Given the description of an element on the screen output the (x, y) to click on. 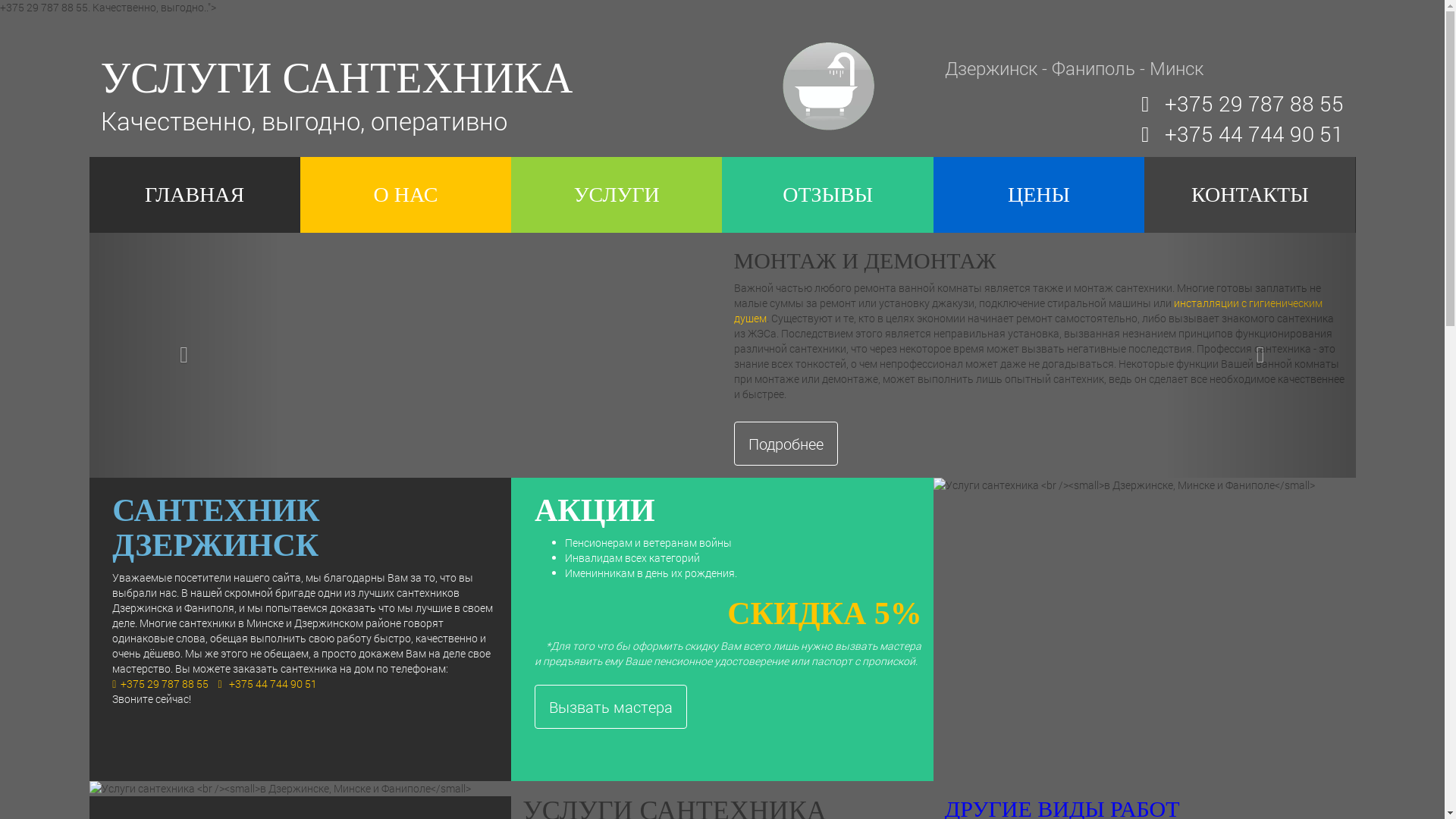
+375 29 787 88 55 Element type: text (1253, 103)
+375 29 787 88 55 Element type: text (164, 683)
+375 44 744 90 51 Element type: text (1253, 133)
+375 44 744 90 51 Element type: text (272, 683)
